Given the description of an element on the screen output the (x, y) to click on. 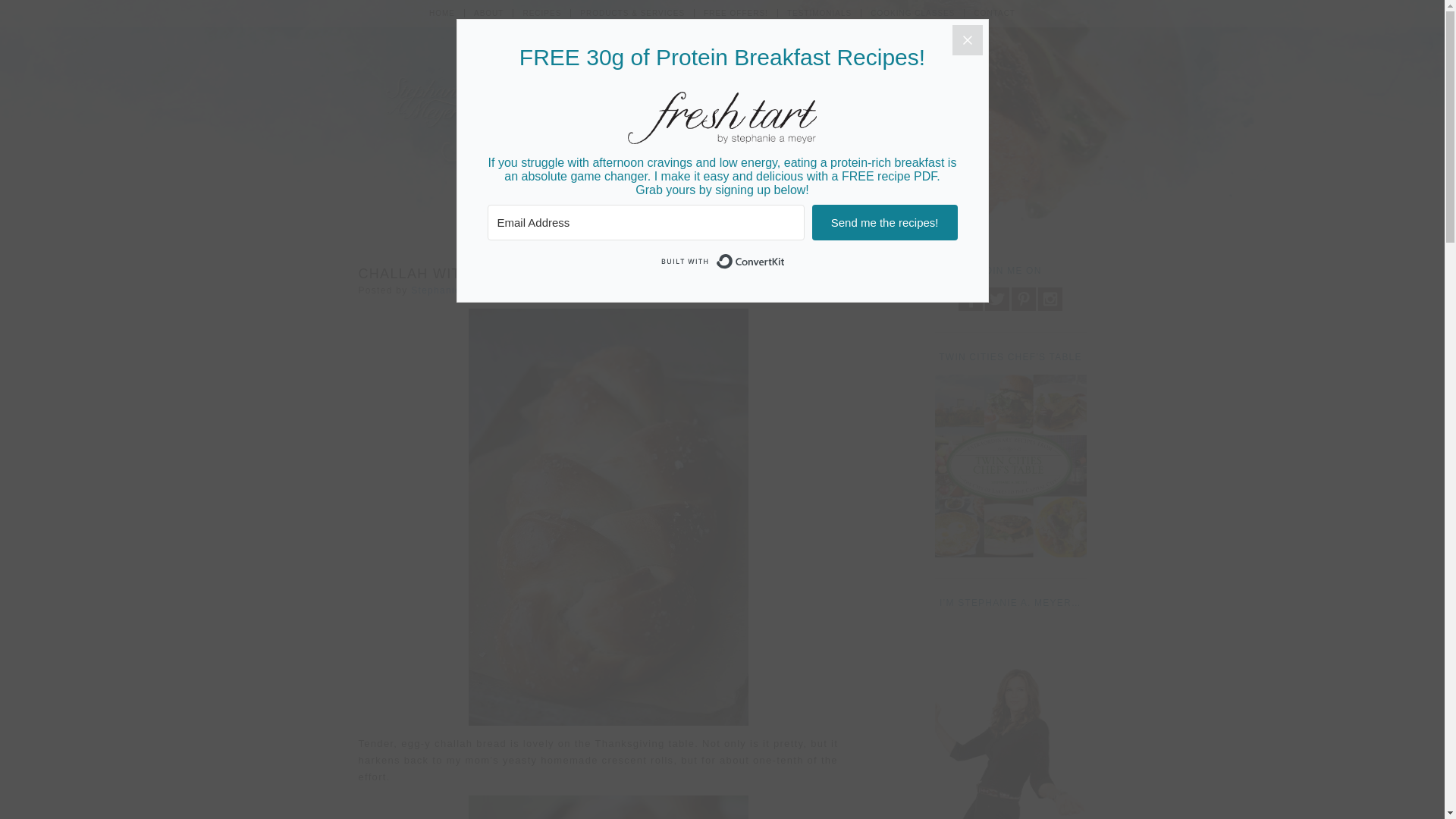
HOME (441, 13)
TESTIMONIALS (819, 13)
FREE OFFERS! (735, 13)
challah (608, 516)
ABOUT (488, 13)
Stephanie Meyer (452, 290)
challah (608, 807)
RECIPES (541, 13)
CONTACT (994, 13)
Stephanie Meyer (452, 290)
COOKING CLASSES (912, 13)
